Given the description of an element on the screen output the (x, y) to click on. 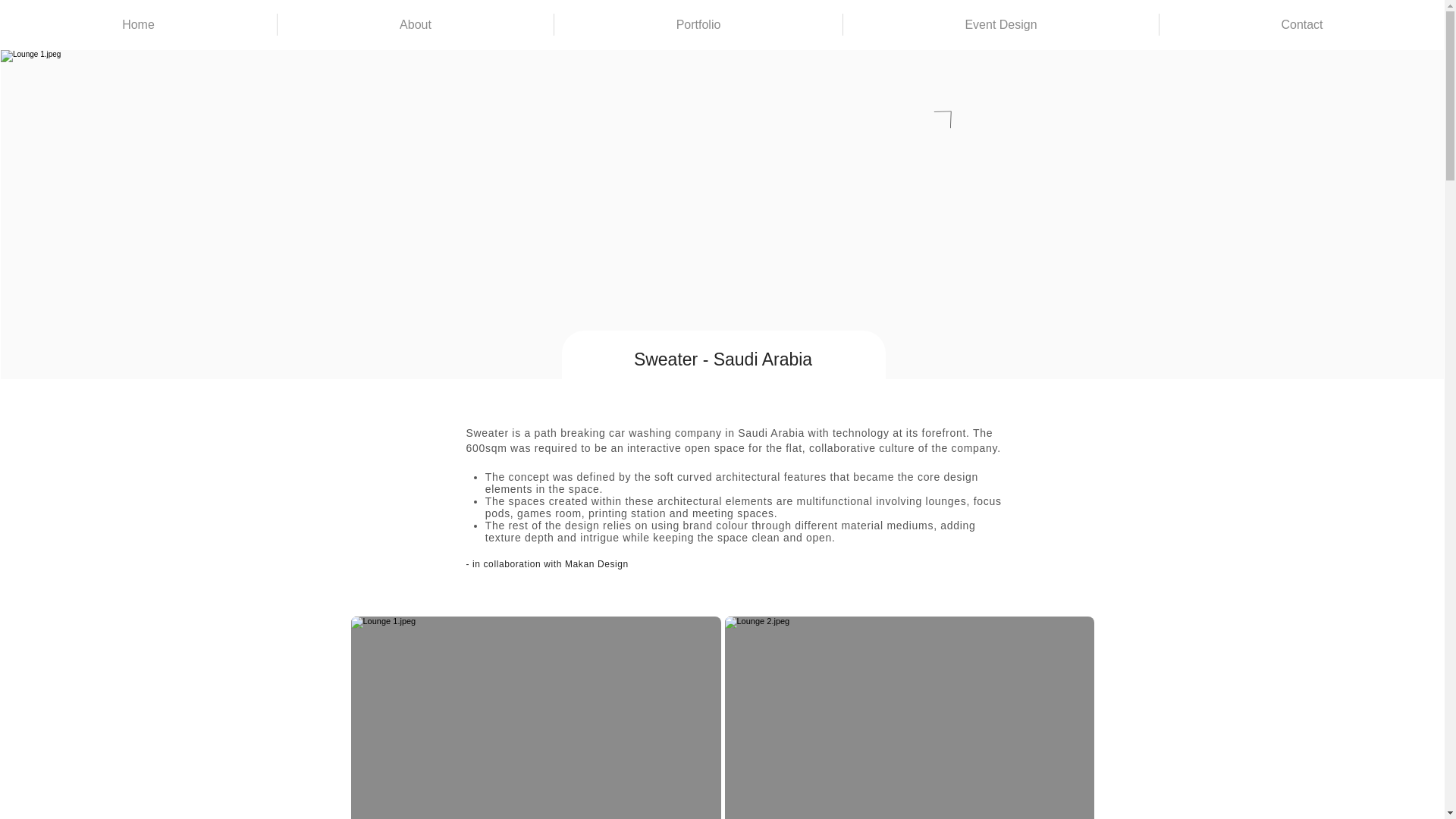
Event Design (1000, 24)
Home (138, 24)
Portfolio (698, 24)
About (414, 24)
